Given the description of an element on the screen output the (x, y) to click on. 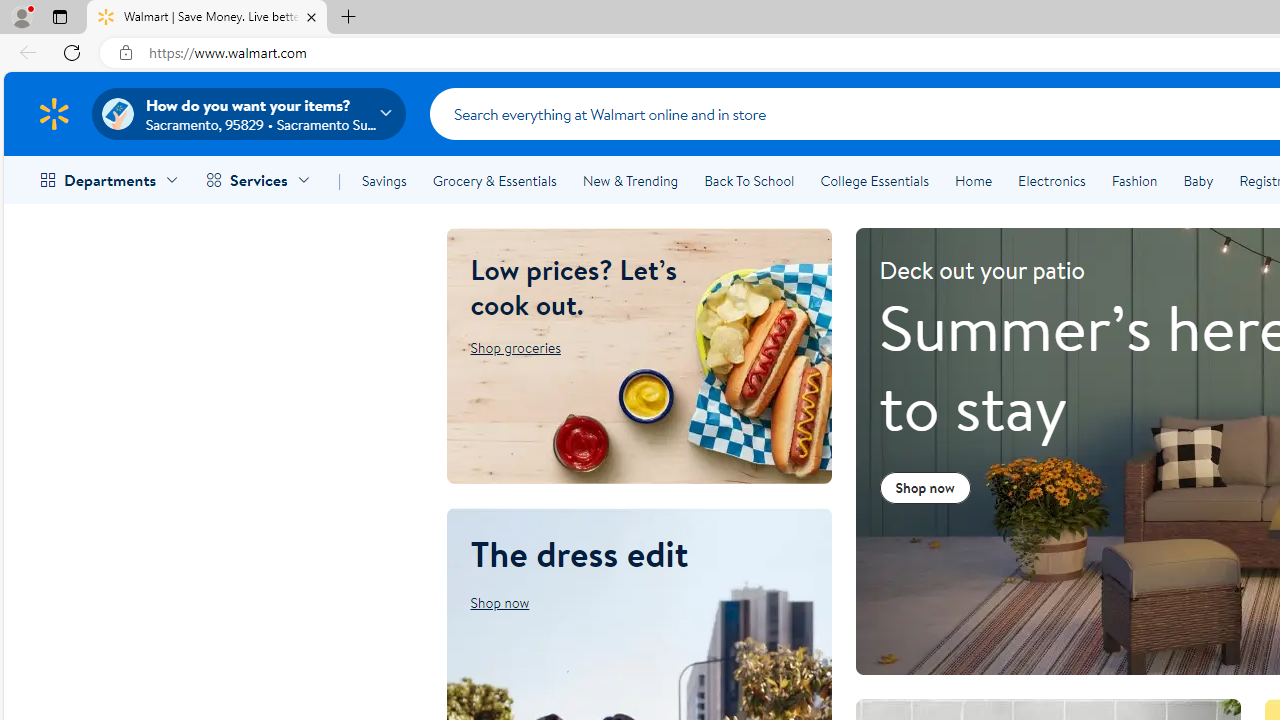
Shop now The dress edit (499, 601)
Savings (384, 180)
Baby (1197, 180)
College Essentials (874, 180)
Grocery & Essentials (493, 180)
